Given the description of an element on the screen output the (x, y) to click on. 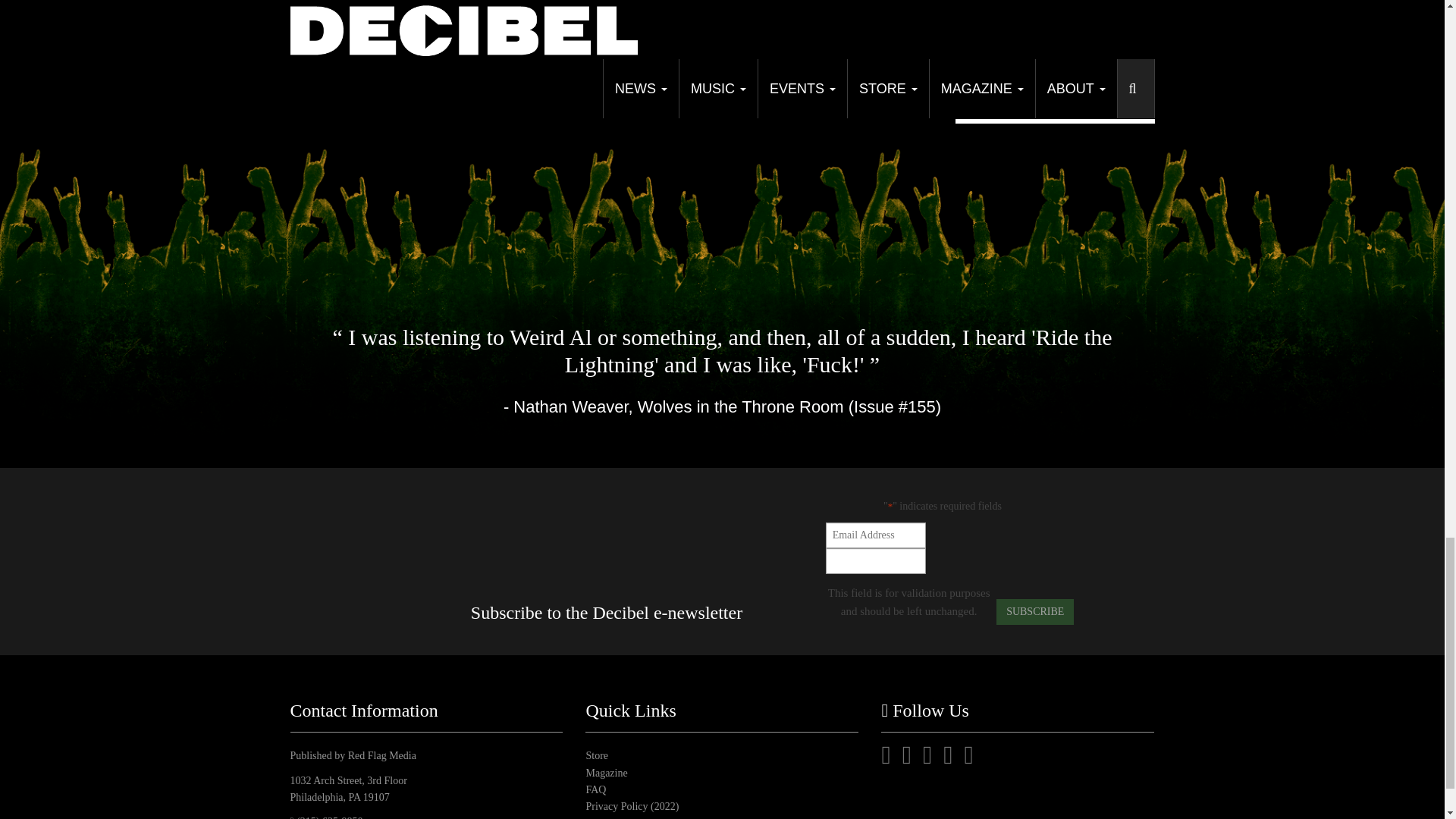
Subscribe (1034, 611)
